Given the description of an element on the screen output the (x, y) to click on. 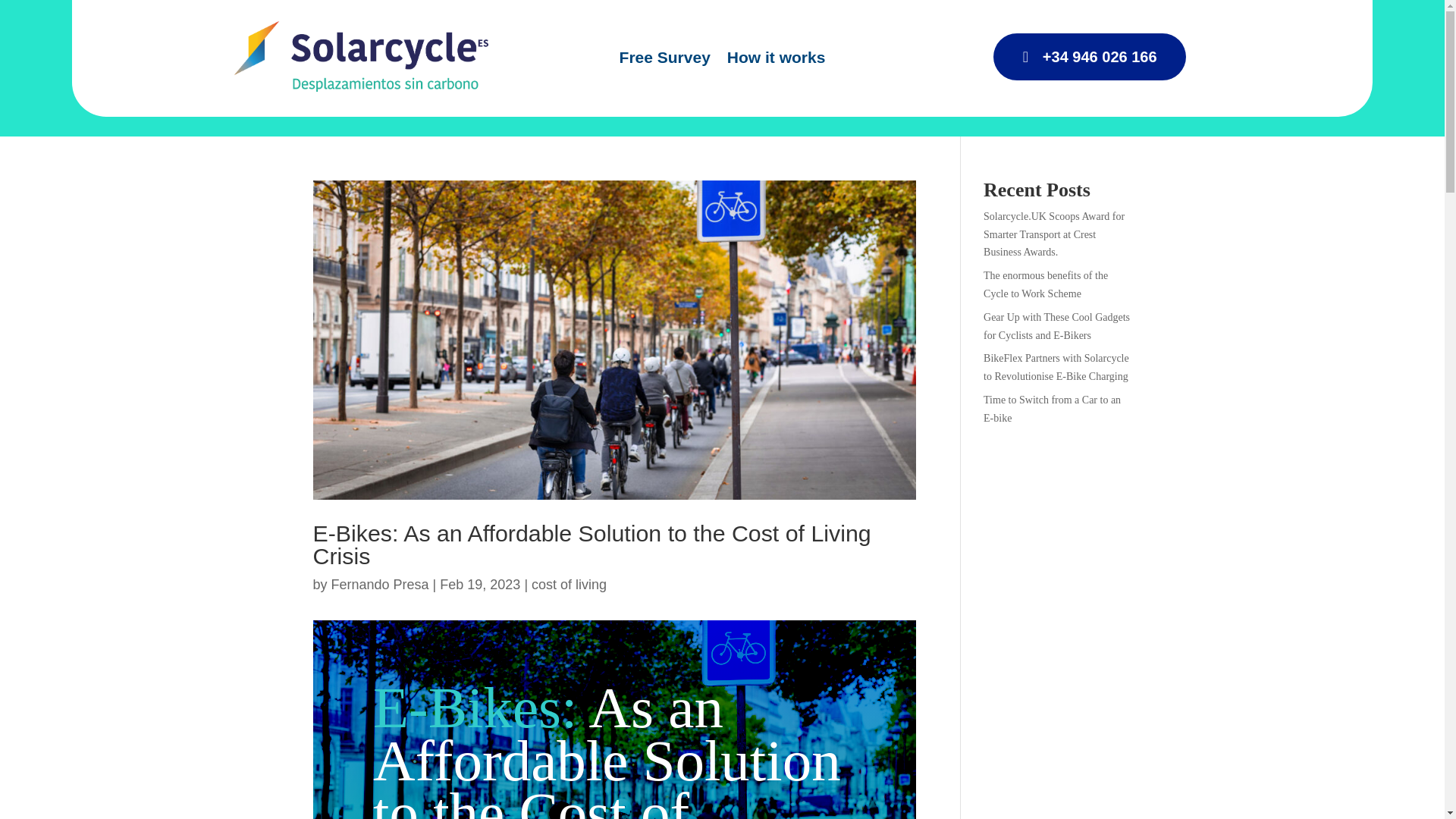
Time to Switch from a Car to an E-bike (1052, 408)
cost of living (569, 583)
Free Survey (665, 60)
Fernando Presa (380, 583)
The enormous benefits of the Cycle to Work Scheme (1046, 284)
Gear Up with These Cool Gadgets for Cyclists and E-Bikers (1056, 326)
How it works (775, 60)
